Given the description of an element on the screen output the (x, y) to click on. 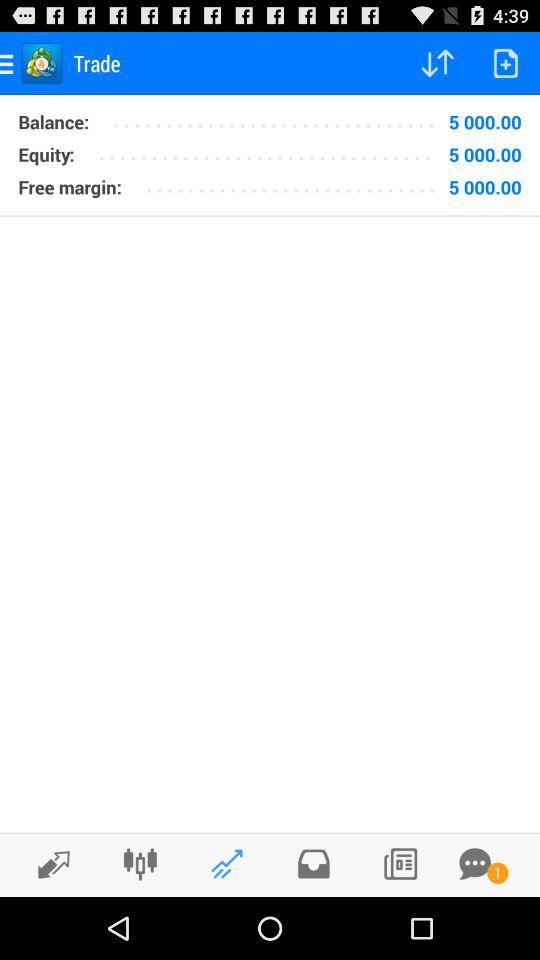
new messages (475, 864)
